Given the description of an element on the screen output the (x, y) to click on. 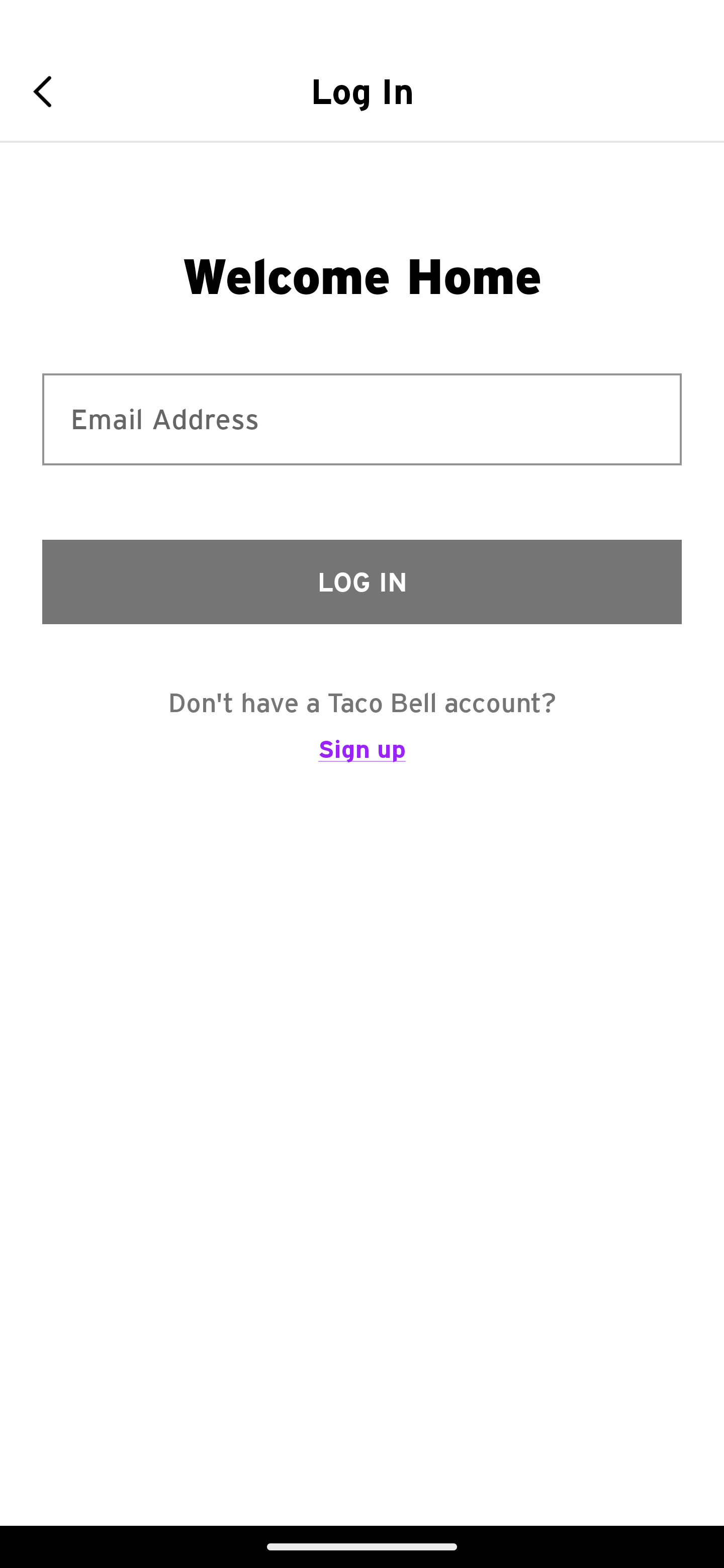
Navigate up (49, 91)
Email Address (361, 419)
LOG IN (361, 581)
Sign up (361, 757)
